Given the description of an element on the screen output the (x, y) to click on. 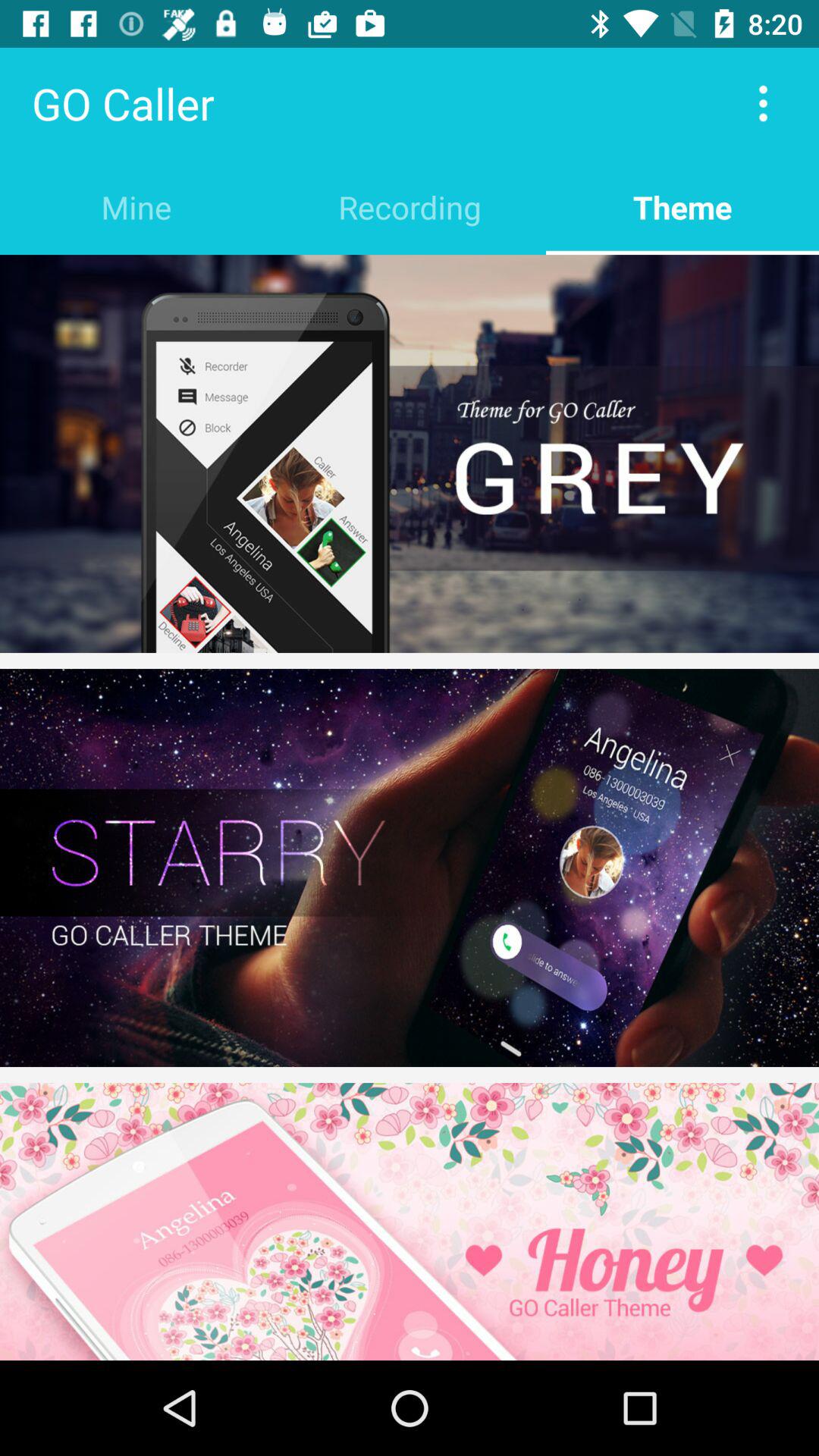
open item to the right of the mine (409, 206)
